Given the description of an element on the screen output the (x, y) to click on. 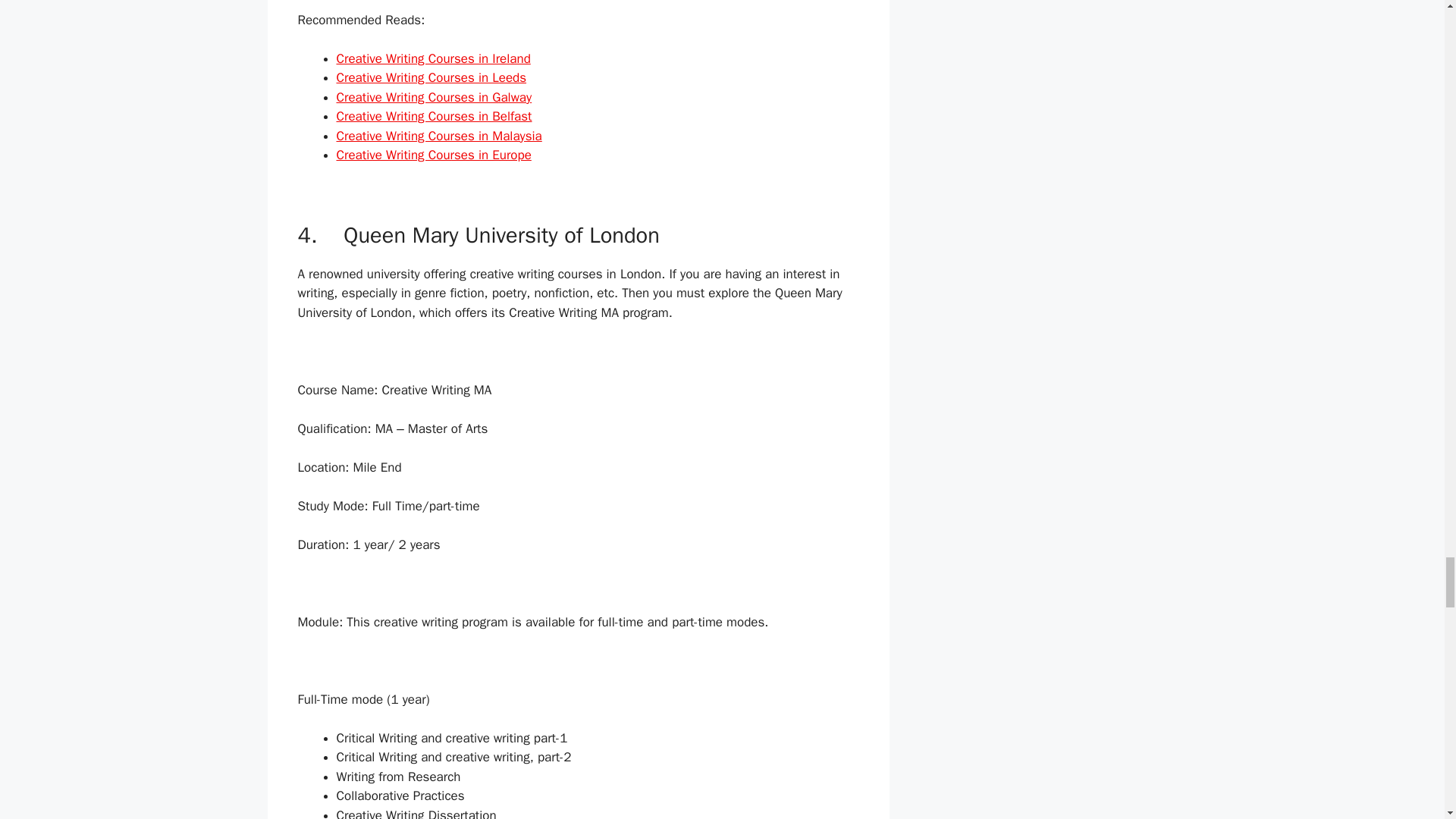
Creative Writing Courses in Malaysia (438, 135)
Creative Writing Courses in Ireland (433, 58)
Creative Writing Courses in Leeds (431, 77)
Creative Writing Courses in Europe (433, 154)
Creative Writing Courses in Belfast (434, 116)
Creative Writing Courses in Galway (434, 97)
